Given the description of an element on the screen output the (x, y) to click on. 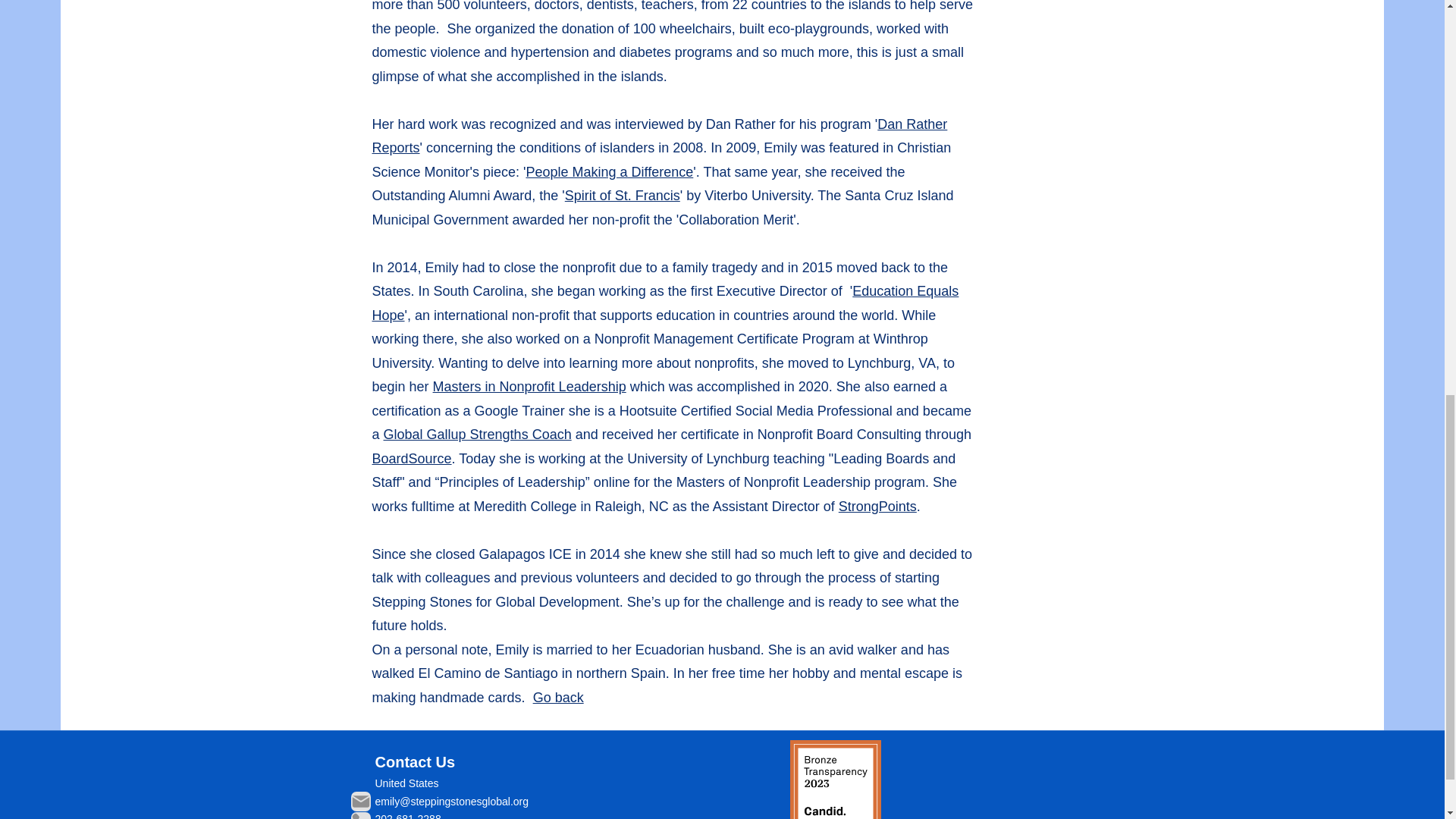
BoardSource (411, 458)
Global Gallup Strengths Coach (478, 434)
Masters in Nonprofit Leadership (529, 386)
Go back (557, 697)
Dan Rather Reports (659, 136)
StrongPoints (877, 506)
People Making a Difference (609, 171)
Spirit of St. Francis (621, 195)
Education Equals Hope (664, 302)
